Given the description of an element on the screen output the (x, y) to click on. 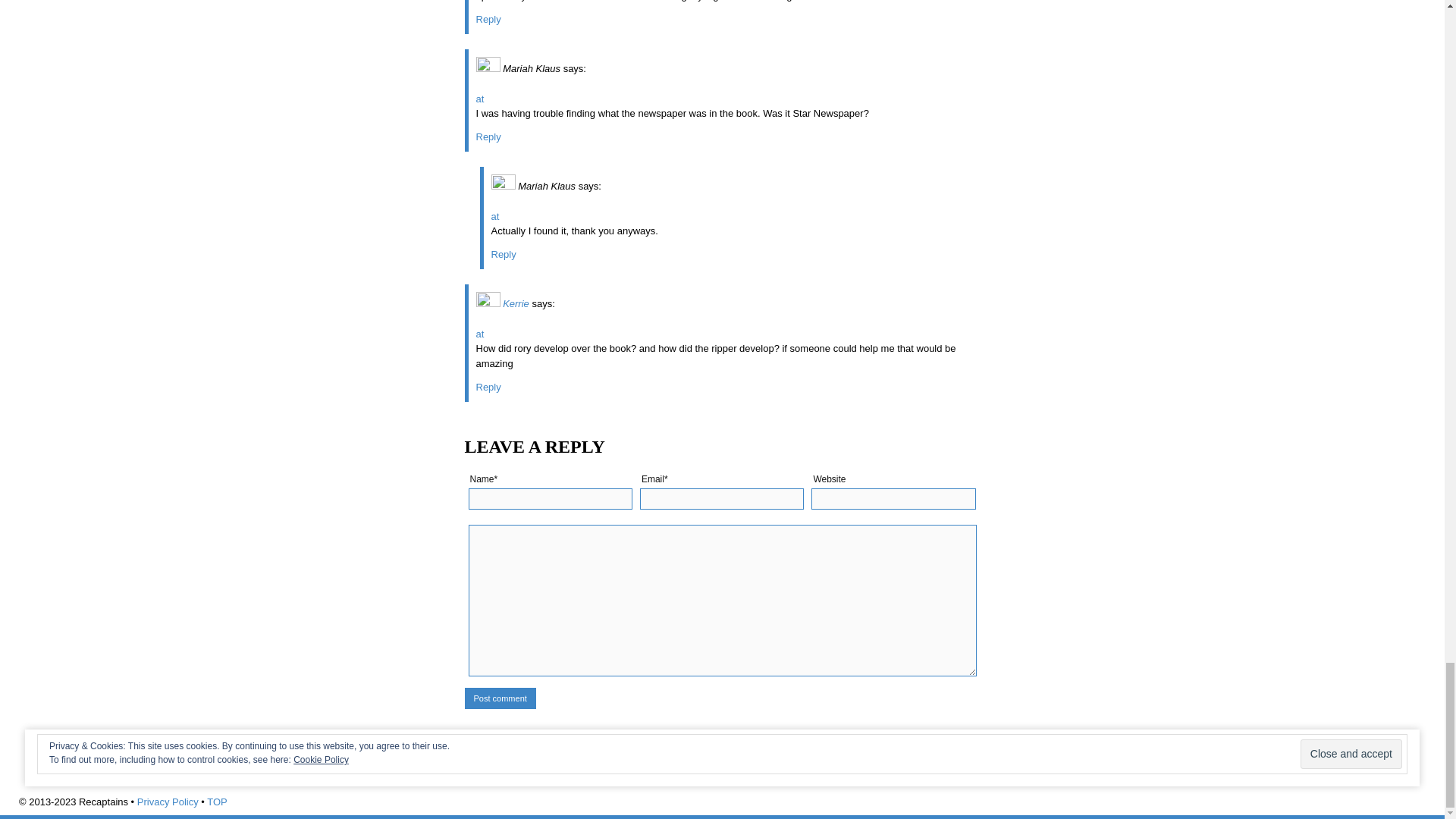
Post comment (499, 698)
